Given the description of an element on the screen output the (x, y) to click on. 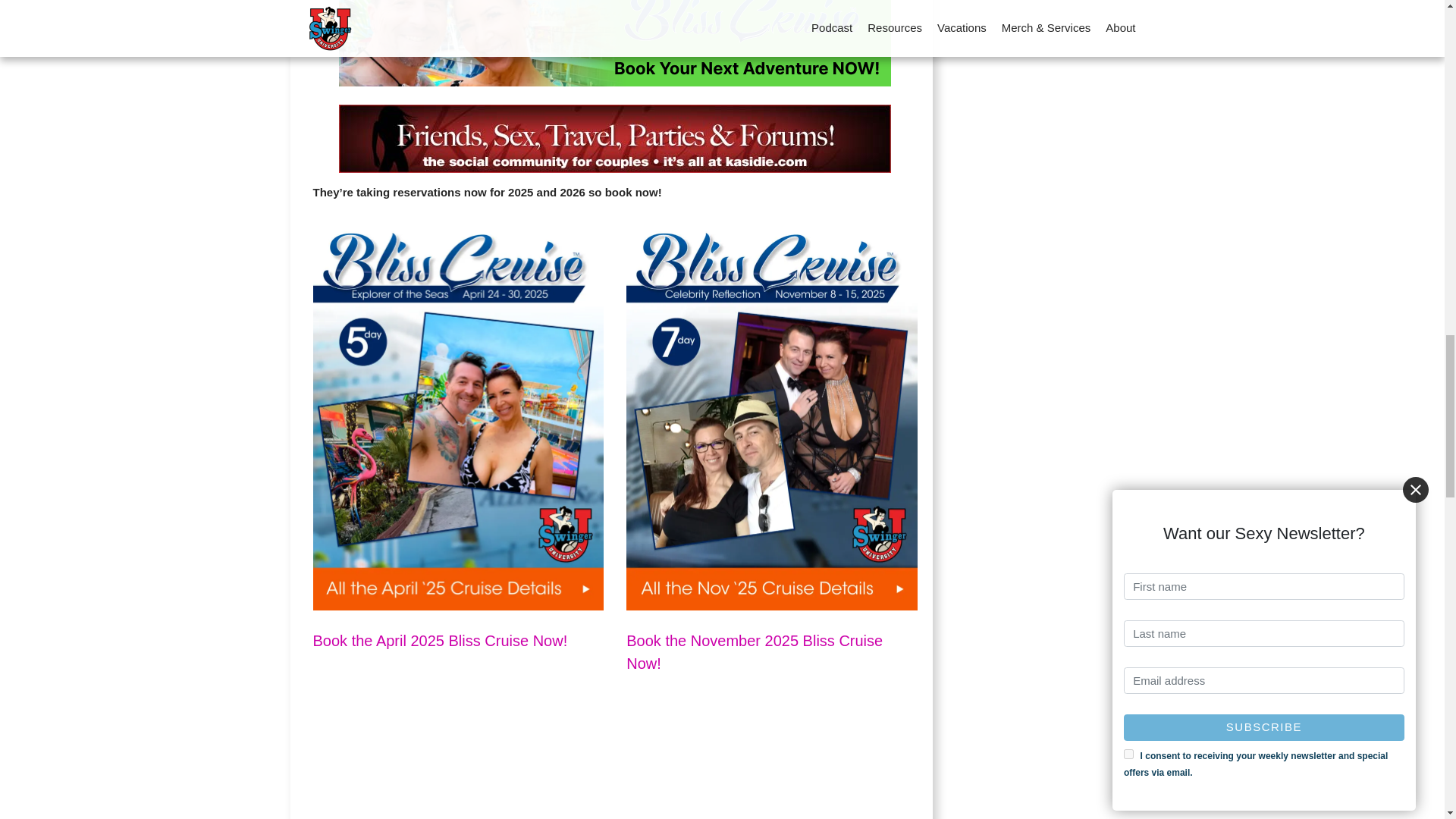
Book the November 2025 Bliss Cruise Now! (754, 651)
April 2025 Bliss Cruise Details (440, 640)
